Given the description of an element on the screen output the (x, y) to click on. 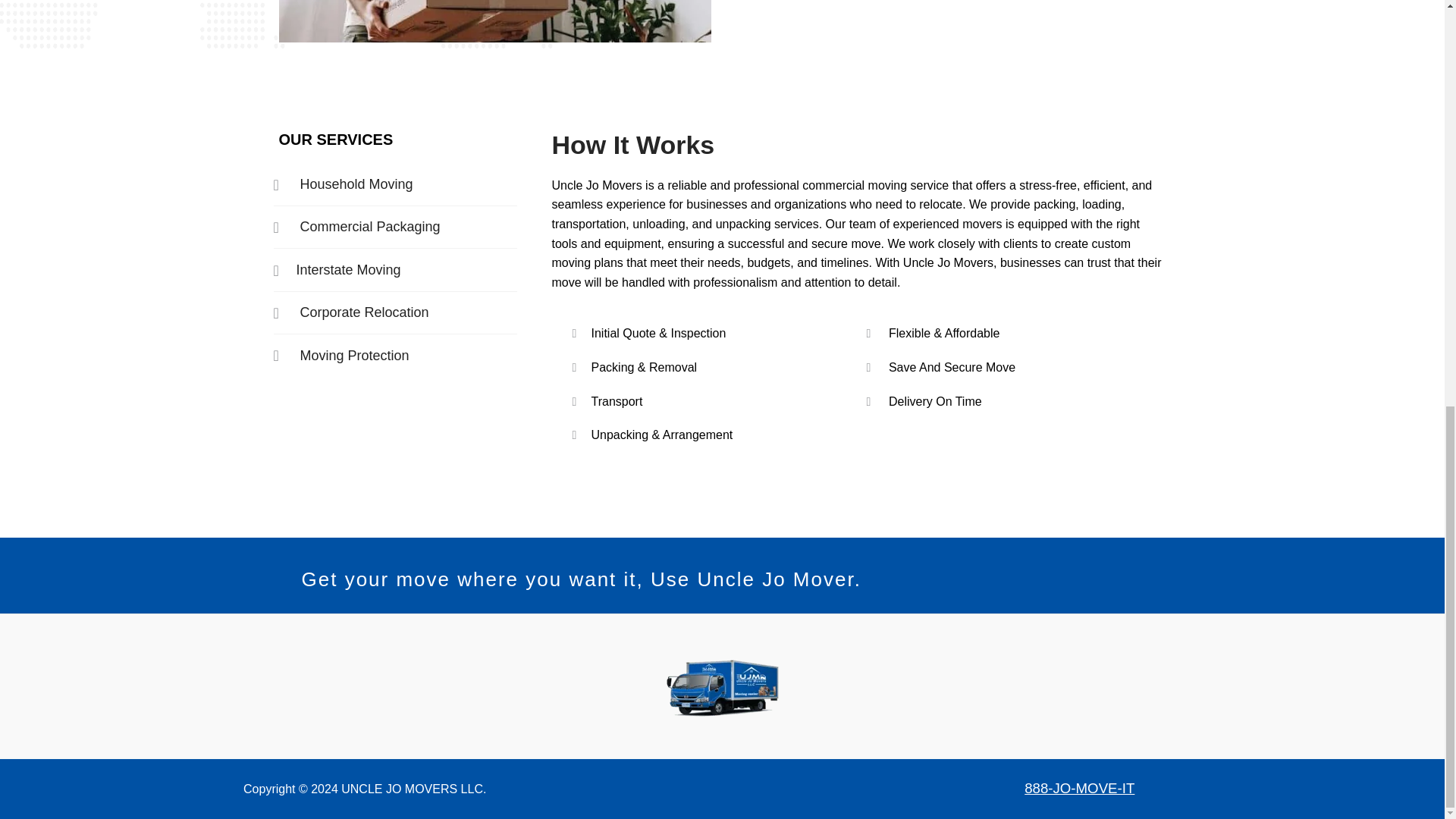
888-JO-MOVE-IT (1079, 788)
